Given the description of an element on the screen output the (x, y) to click on. 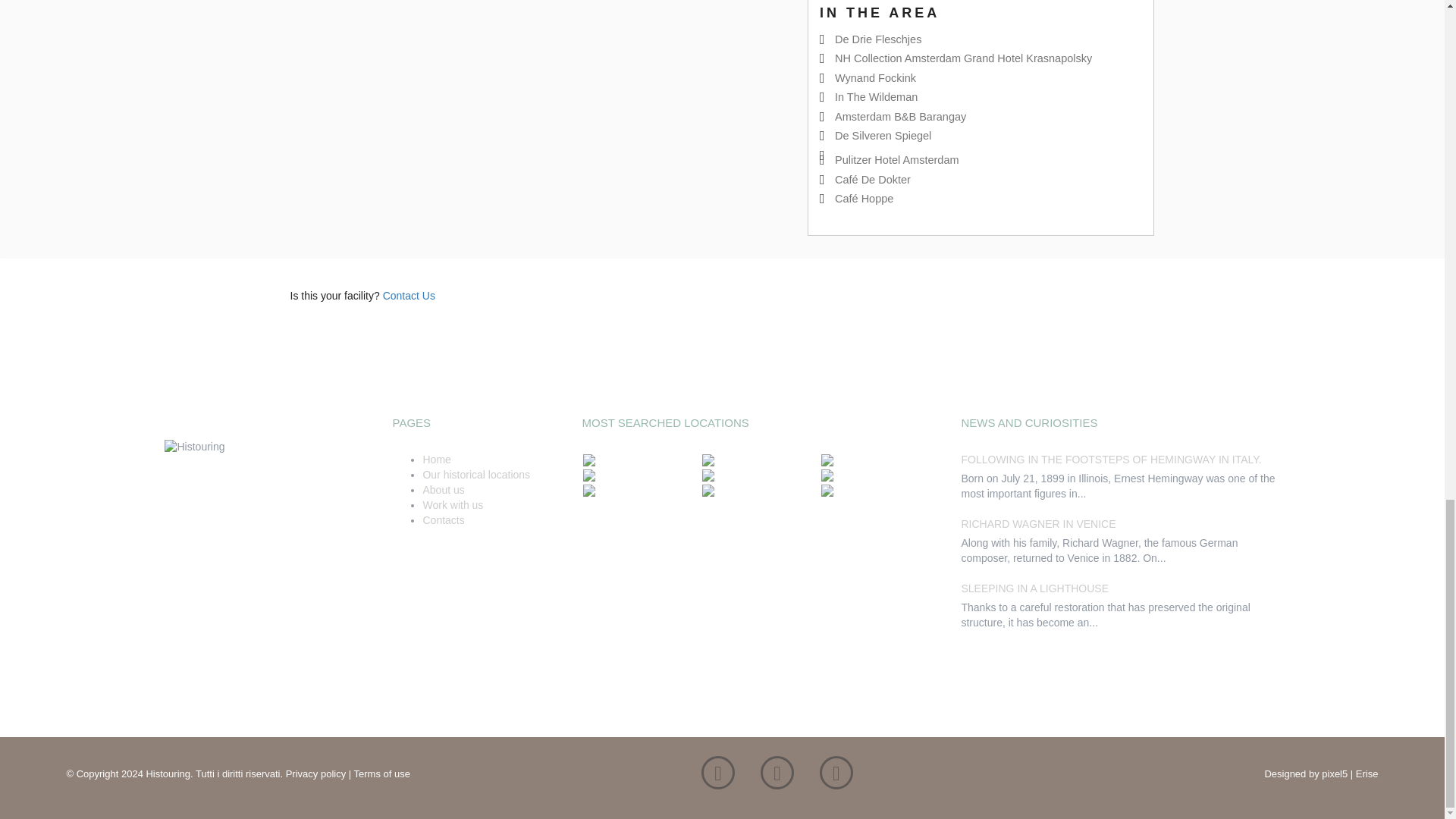
De Silveren Spiegel (882, 135)
Home (435, 459)
In The Wildeman (875, 96)
Wynand Fockink (874, 78)
Our historical locations (475, 474)
Contact Us (408, 295)
Vai su Amazon (836, 776)
Pulitzer Hotel Amsterdam (896, 159)
De Drie Fleschjes (877, 39)
NH Collection Amsterdam Grand Hotel Krasnapolsky (963, 58)
